Given the description of an element on the screen output the (x, y) to click on. 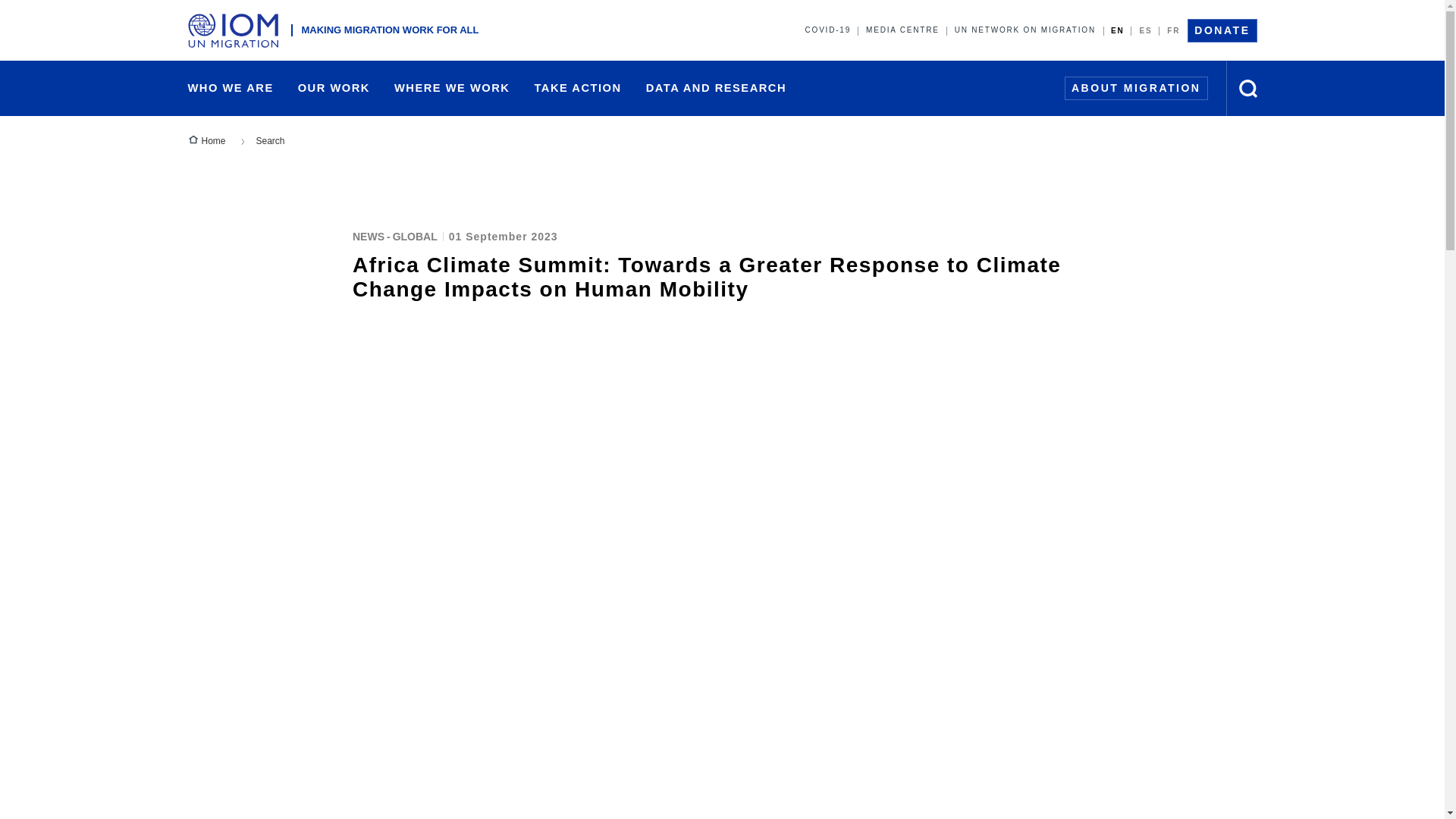
COVID-19 (828, 30)
DONATE (1222, 29)
OUR WORK (333, 88)
MEDIA CENTRE (903, 30)
EN (1117, 30)
FR (1173, 30)
ES (1144, 30)
Home (236, 30)
WHO WE ARE (230, 88)
UN NETWORK ON MIGRATION (1025, 30)
Skip to main content (721, 1)
